Given the description of an element on the screen output the (x, y) to click on. 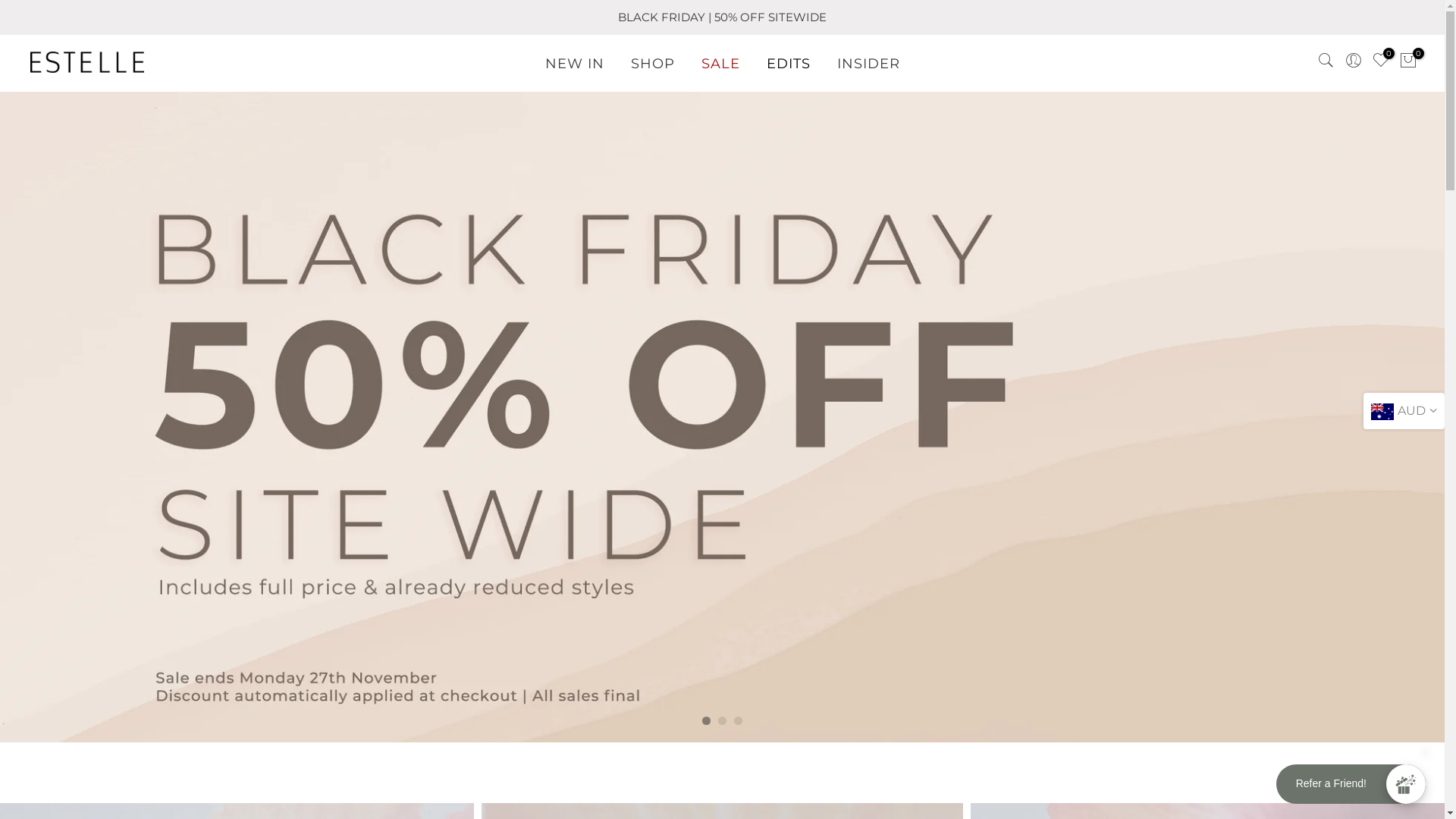
NEW IN Element type: text (574, 62)
0 Element type: text (1408, 63)
EDITS Element type: text (788, 62)
SHOP Element type: text (652, 62)
0 Element type: text (1380, 63)
INSIDER Element type: text (868, 62)
SALE Element type: text (720, 62)
